Given the description of an element on the screen output the (x, y) to click on. 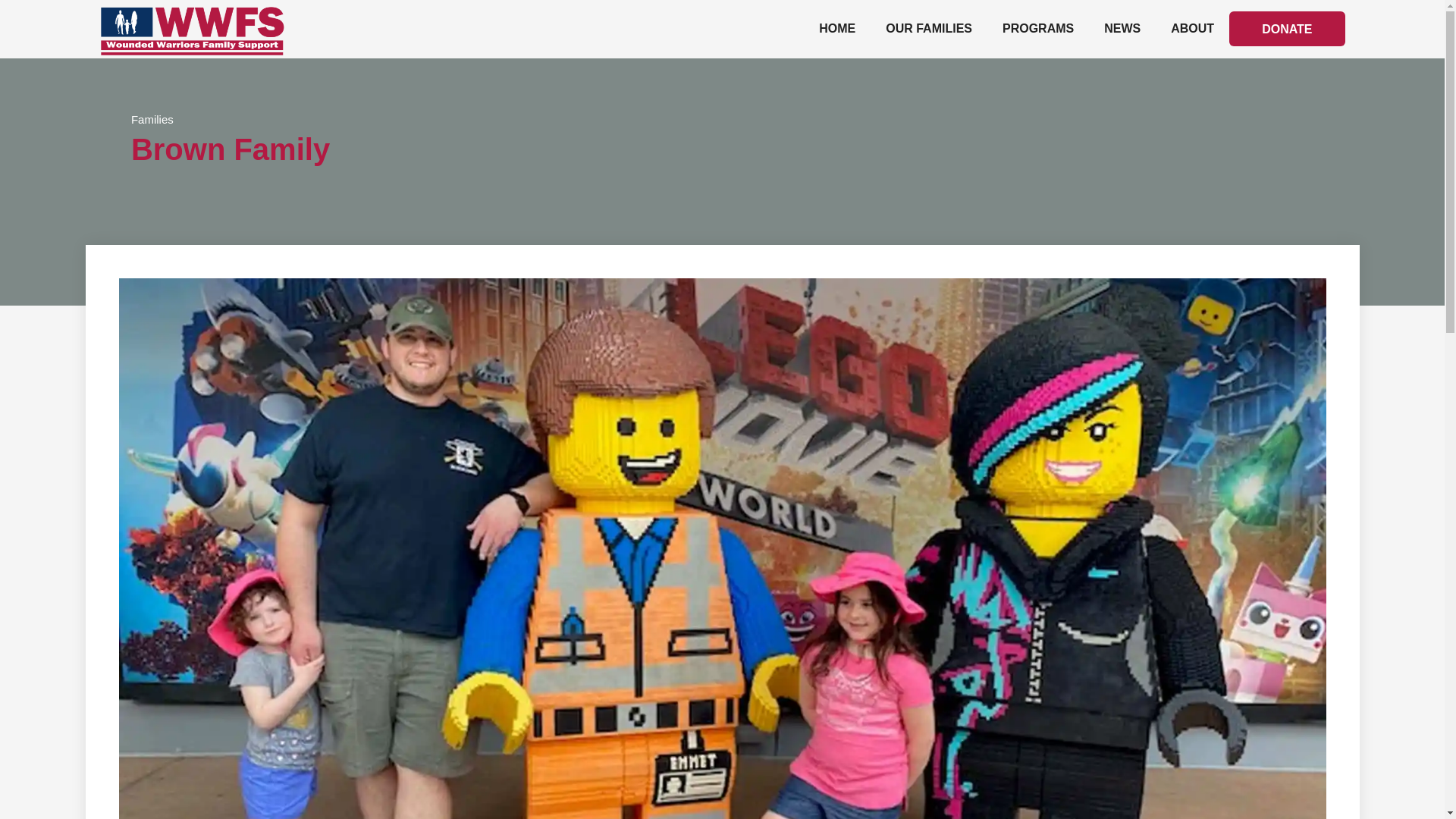
PROGRAMS (1038, 28)
Families (152, 119)
OUR FAMILIES (928, 28)
ABOUT (1192, 28)
WWFS families (928, 28)
HOME (836, 28)
NEWS (1122, 28)
DONATE (1285, 28)
